Given the description of an element on the screen output the (x, y) to click on. 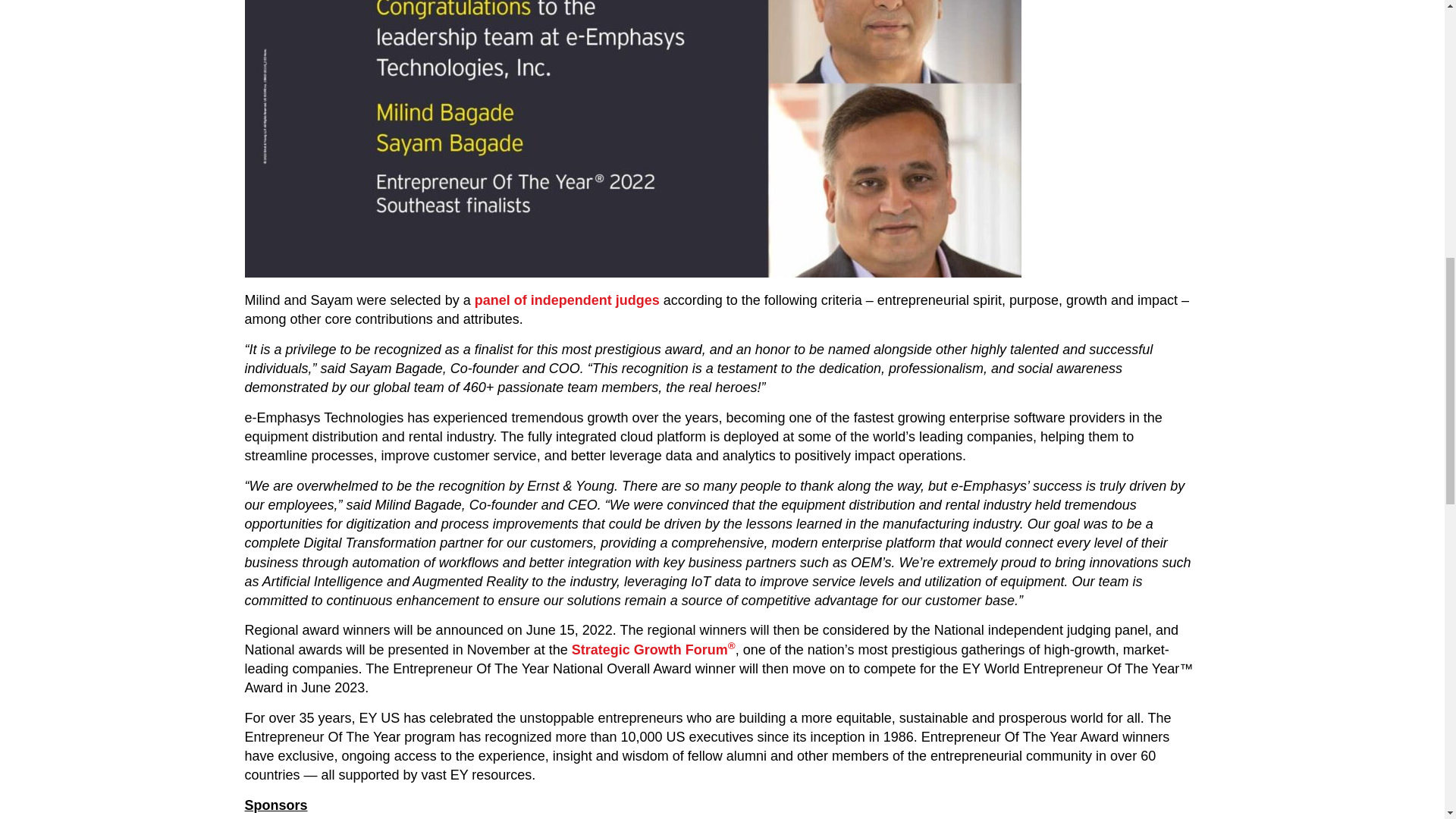
panel of independent judges (566, 299)
